Given the description of an element on the screen output the (x, y) to click on. 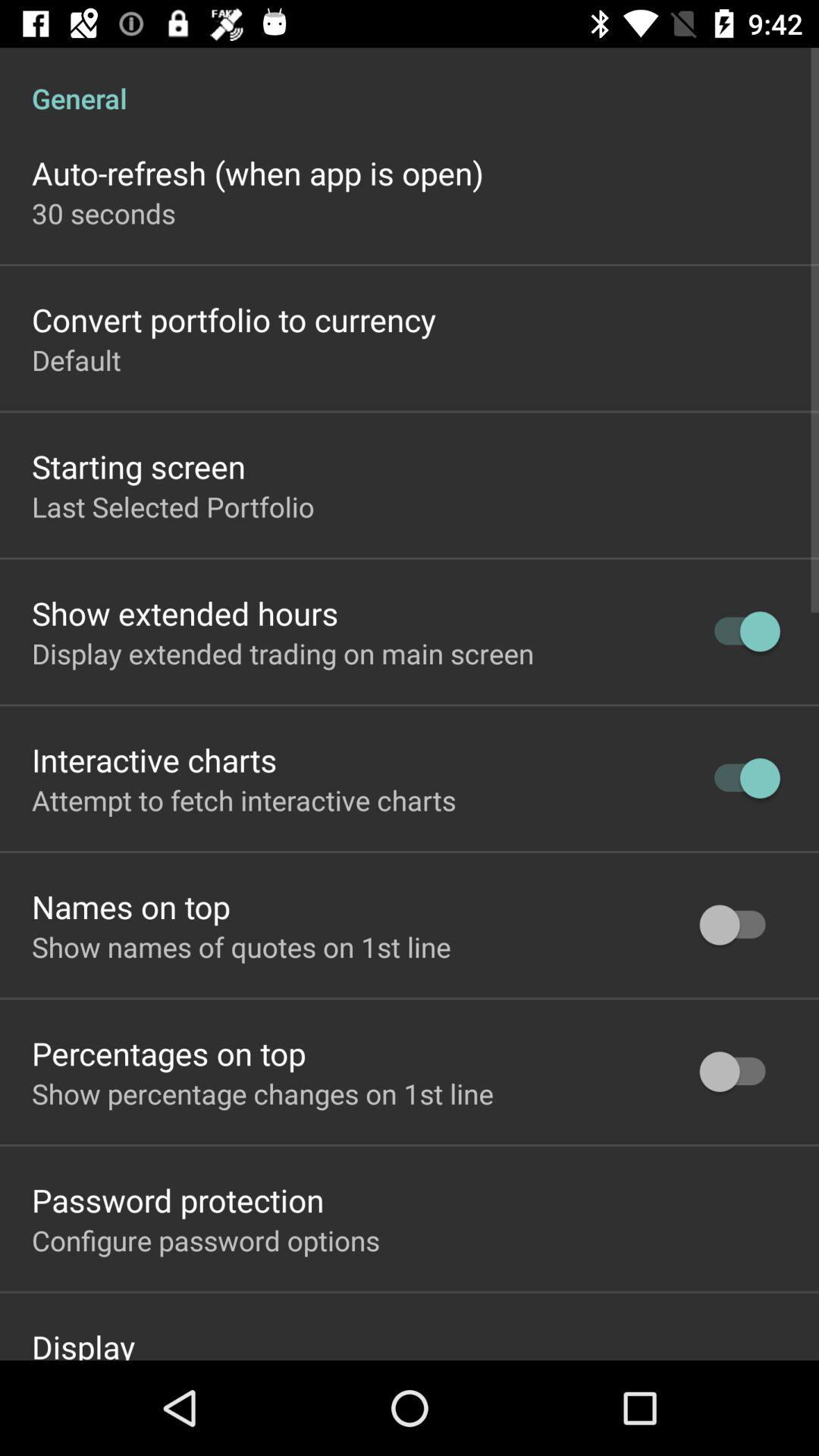
turn on icon above names on top item (243, 800)
